Given the description of an element on the screen output the (x, y) to click on. 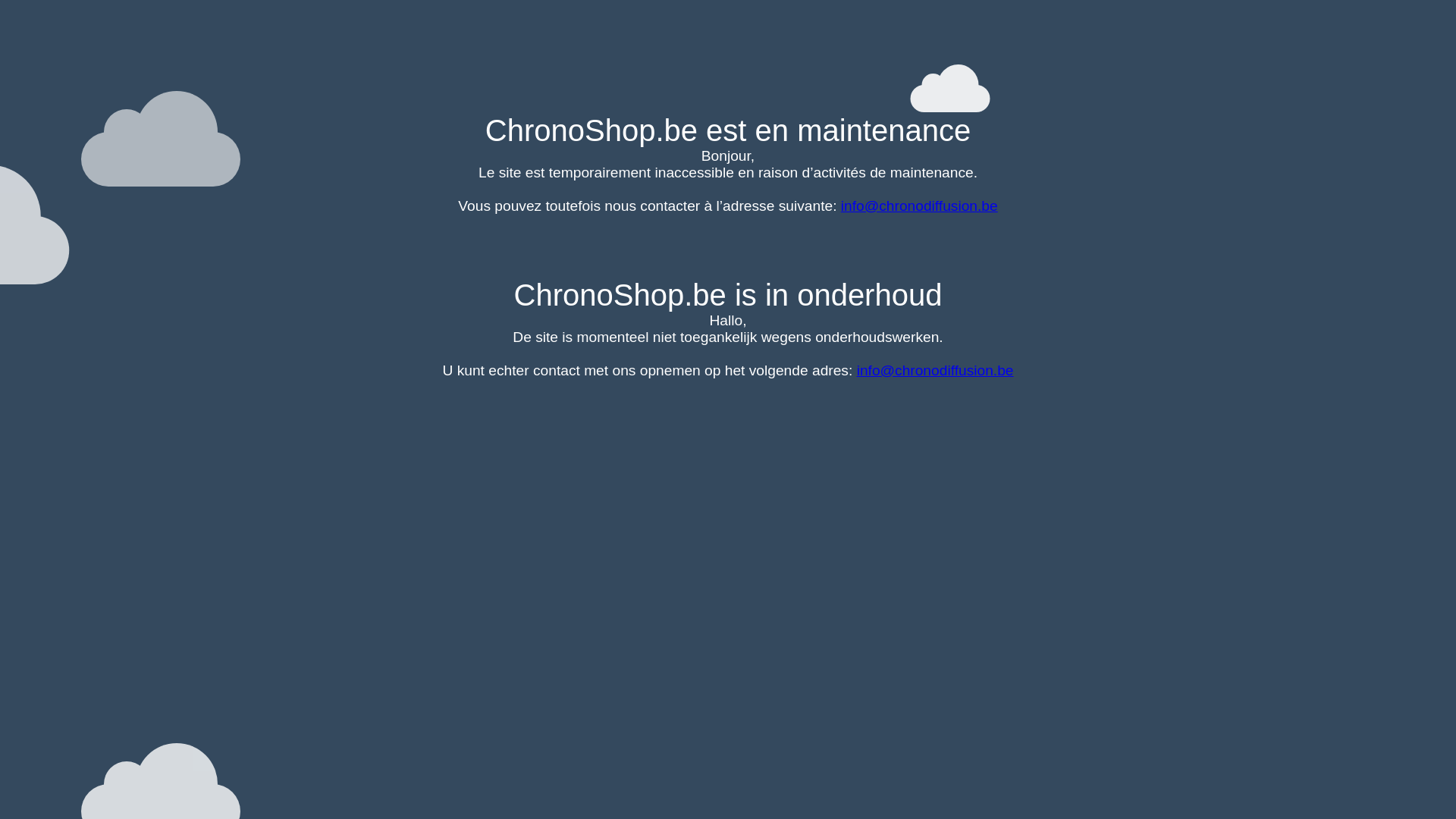
info@chronodiffusion.be Element type: text (934, 370)
info@chronodiffusion.be Element type: text (918, 205)
